Given the description of an element on the screen output the (x, y) to click on. 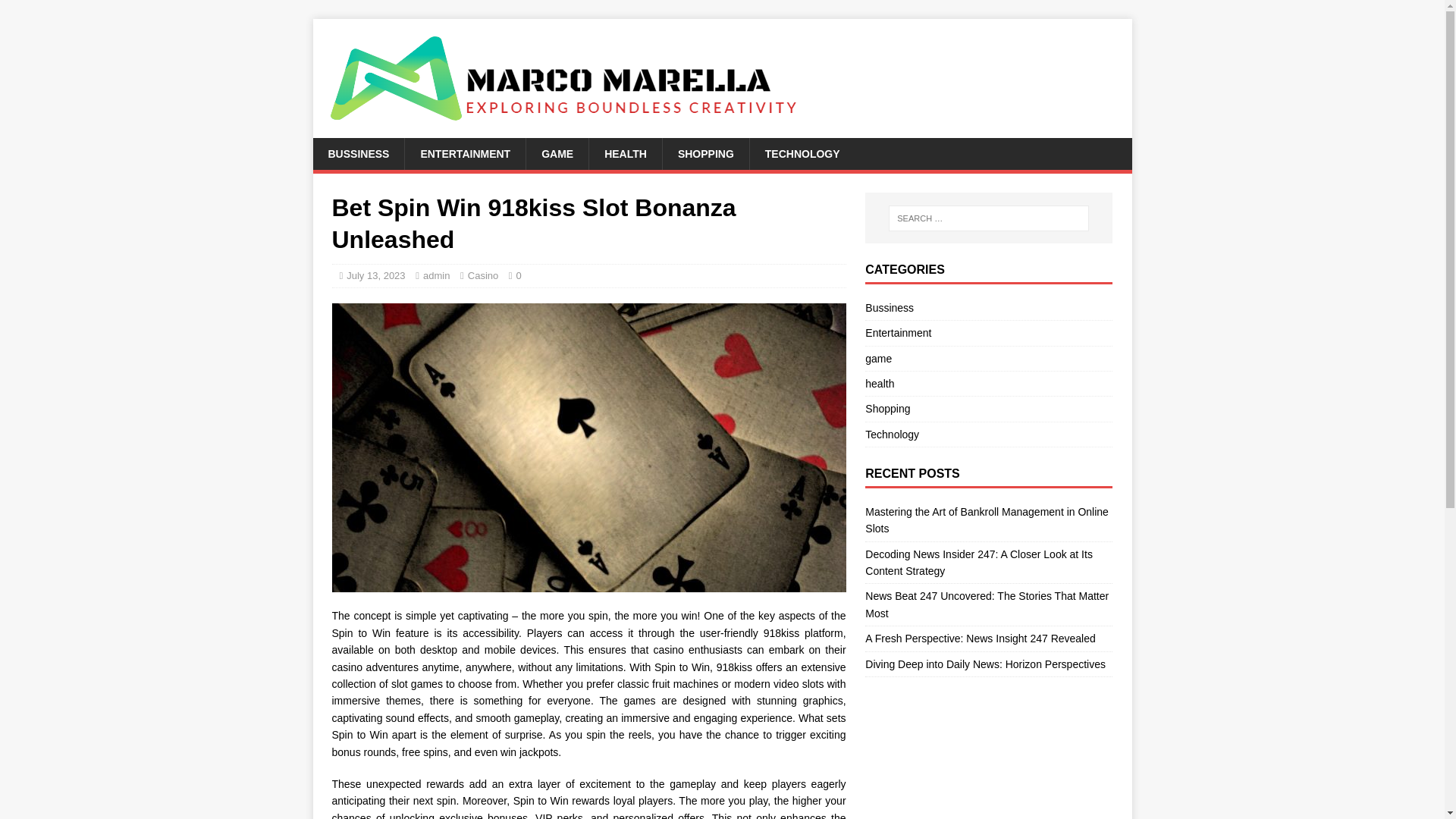
HEALTH (625, 153)
BUSSINESS (358, 153)
A Fresh Perspective: News Insight 247 Revealed (980, 638)
Casino (482, 275)
Bussiness (988, 309)
Search (56, 11)
Technology (988, 434)
Diving Deep into Daily News: Horizon Perspectives (984, 664)
TECHNOLOGY (802, 153)
